Given the description of an element on the screen output the (x, y) to click on. 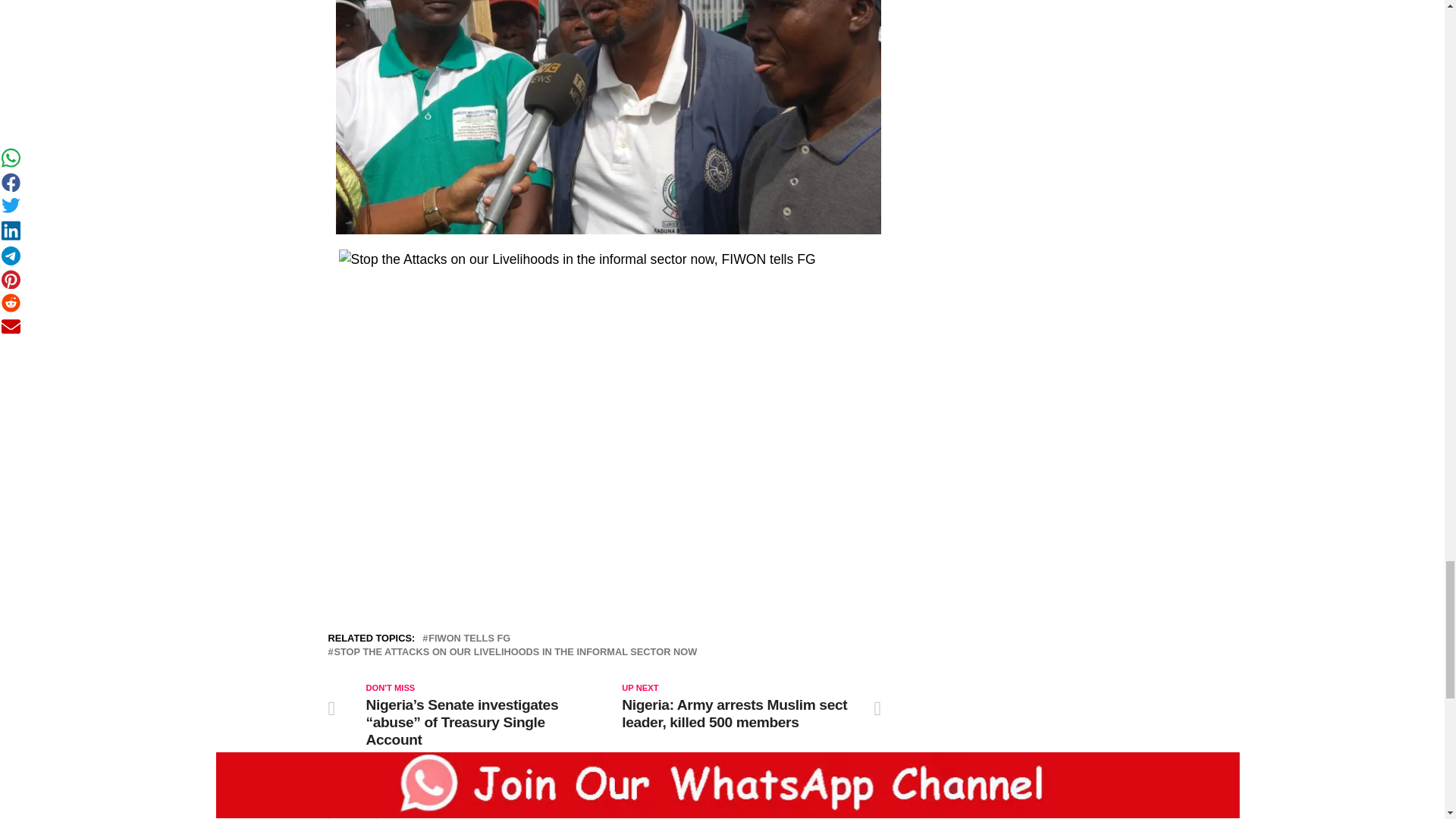
Posts by KAYODE ADELOWOKAN (467, 807)
